Given the description of an element on the screen output the (x, y) to click on. 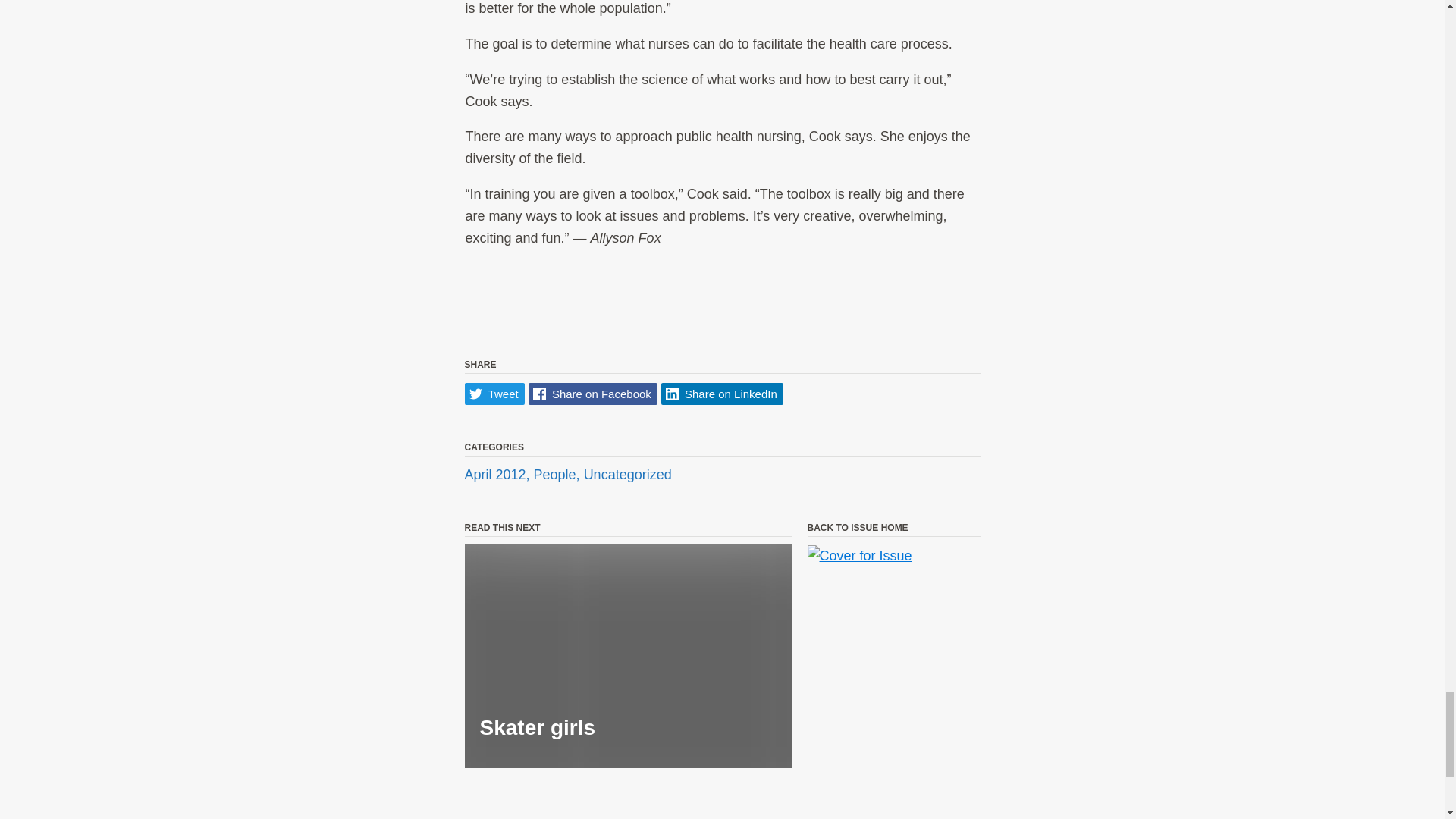
April 2012, (498, 474)
Uncategorized (627, 474)
Share on Facebook (593, 393)
Share on LinkedIn (722, 393)
People, (558, 474)
Tweet (494, 393)
Skater girls (628, 656)
